Given the description of an element on the screen output the (x, y) to click on. 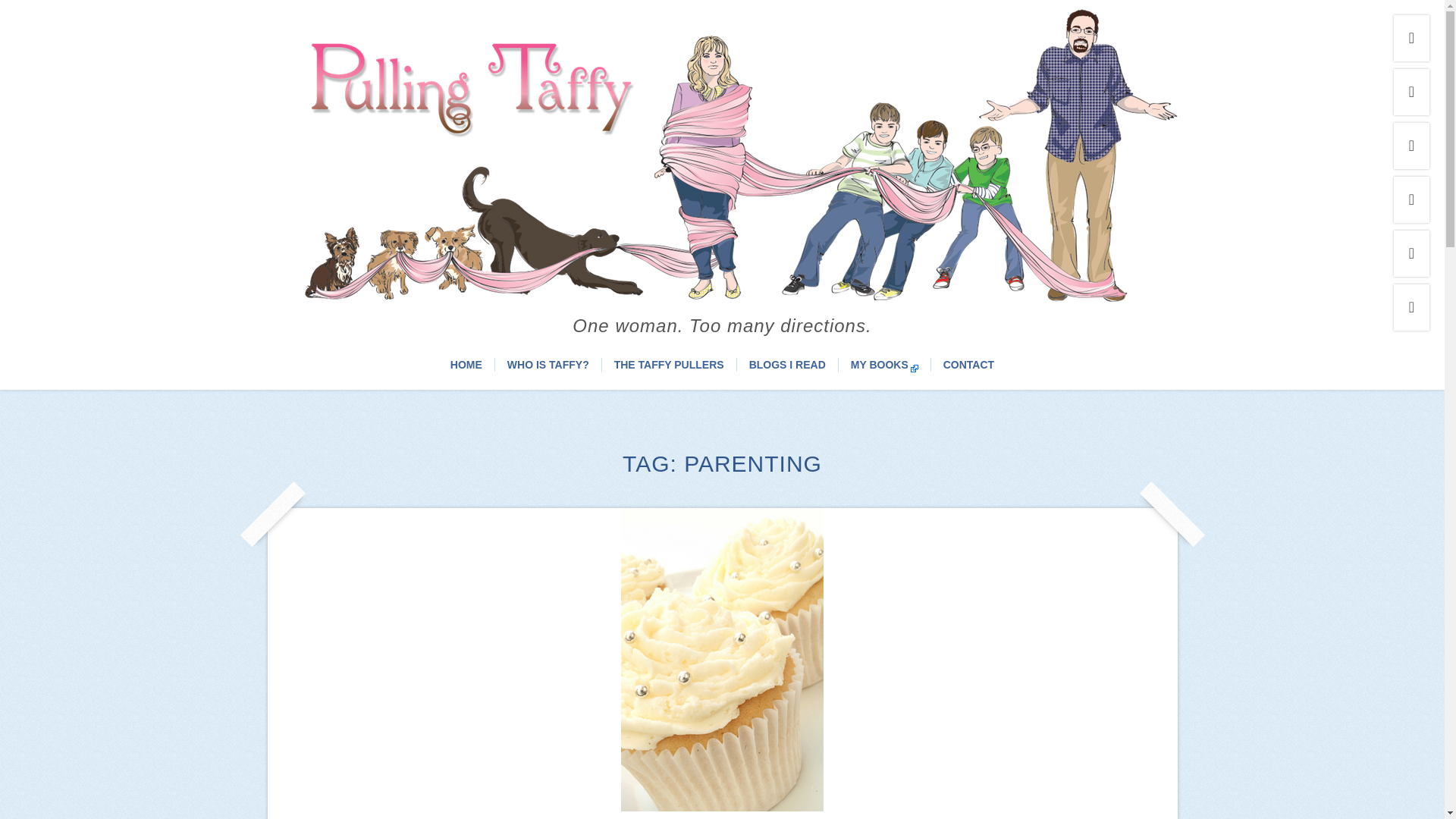
WHO IS TAFFY? (547, 369)
MY BOOKS (884, 369)
BLOGS I READ (787, 369)
HOME (465, 369)
Pulling Taffy (721, 283)
CONTACT (968, 369)
THE TAFFY PULLERS (668, 369)
